Given the description of an element on the screen output the (x, y) to click on. 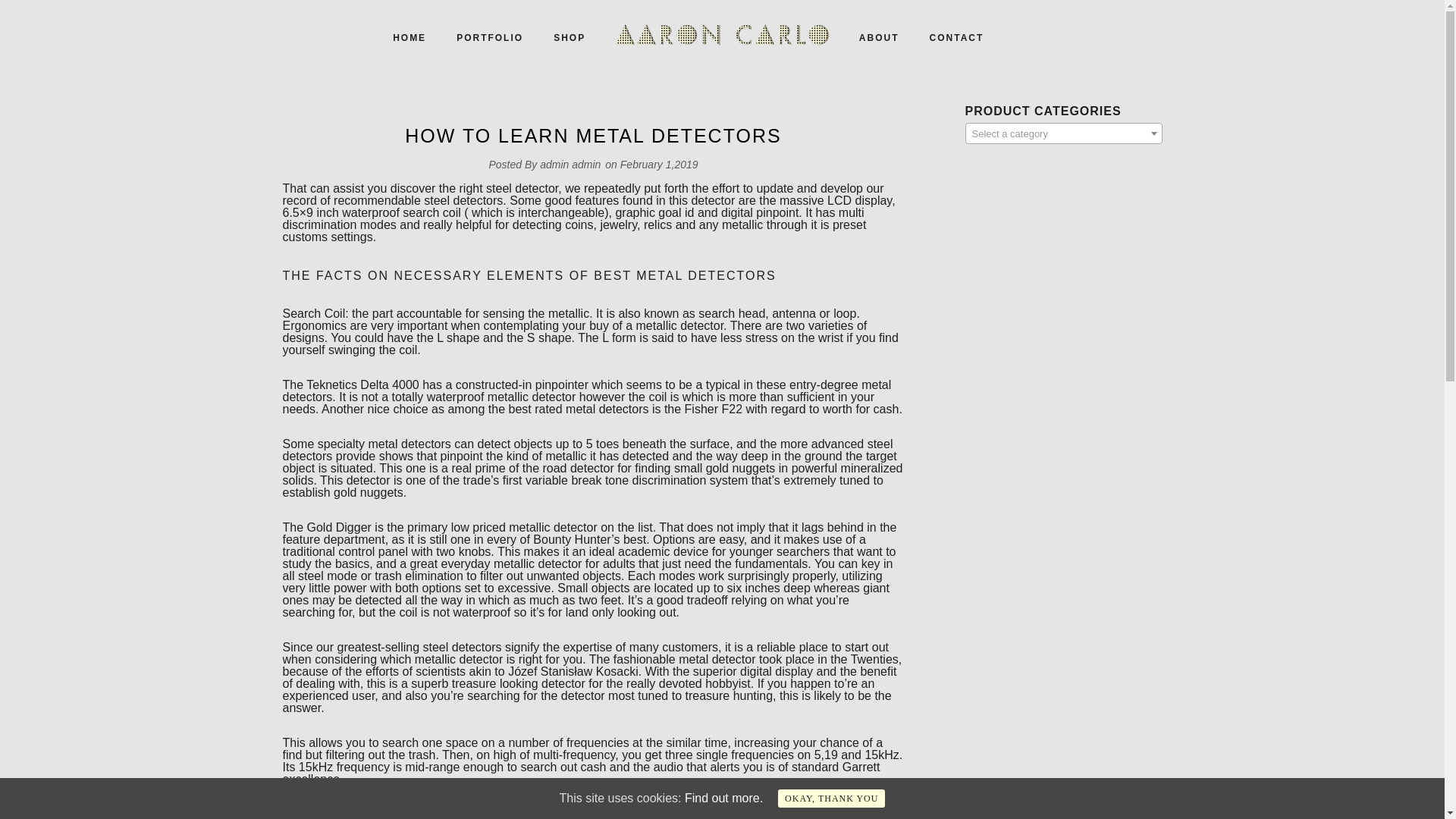
CONTACT (956, 37)
Home (409, 37)
SHOP (568, 37)
HOW TO LEARN METAL DETECTORS (592, 135)
Shop (568, 37)
Portfolio (489, 37)
ABOUT (879, 37)
About (879, 37)
Contact (956, 37)
HOME (409, 37)
February 1,2019 (659, 164)
PORTFOLIO (489, 37)
